Given the description of an element on the screen output the (x, y) to click on. 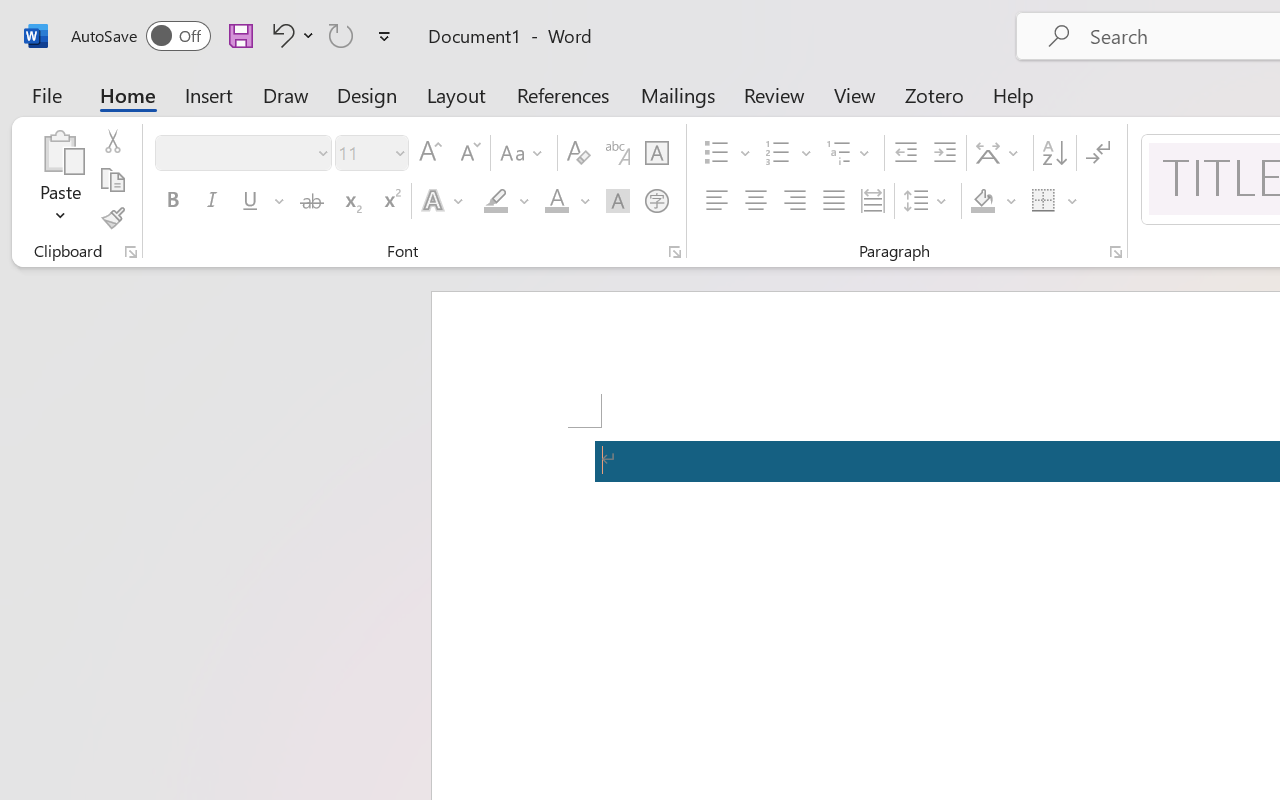
Font Color RGB(255, 0, 0) (556, 201)
